Given the description of an element on the screen output the (x, y) to click on. 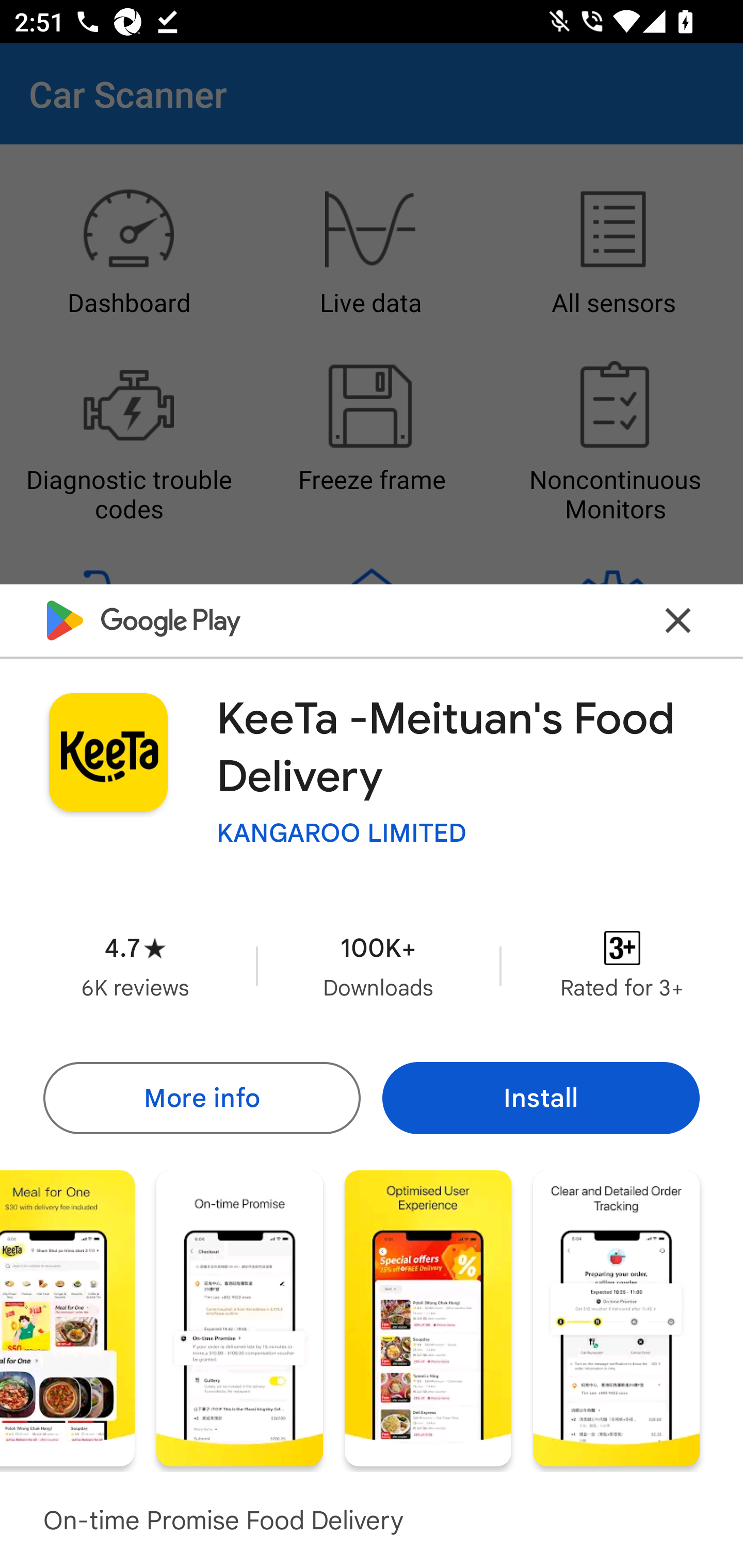
Close (677, 620)
KANGAROO LIMITED (341, 832)
More info (201, 1097)
Install (540, 1097)
Screenshot "3" of "6" (67, 1317)
Screenshot "4" of "6" (239, 1317)
Screenshot "5" of "6" (427, 1317)
Screenshot "6" of "6" (615, 1317)
